Given the description of an element on the screen output the (x, y) to click on. 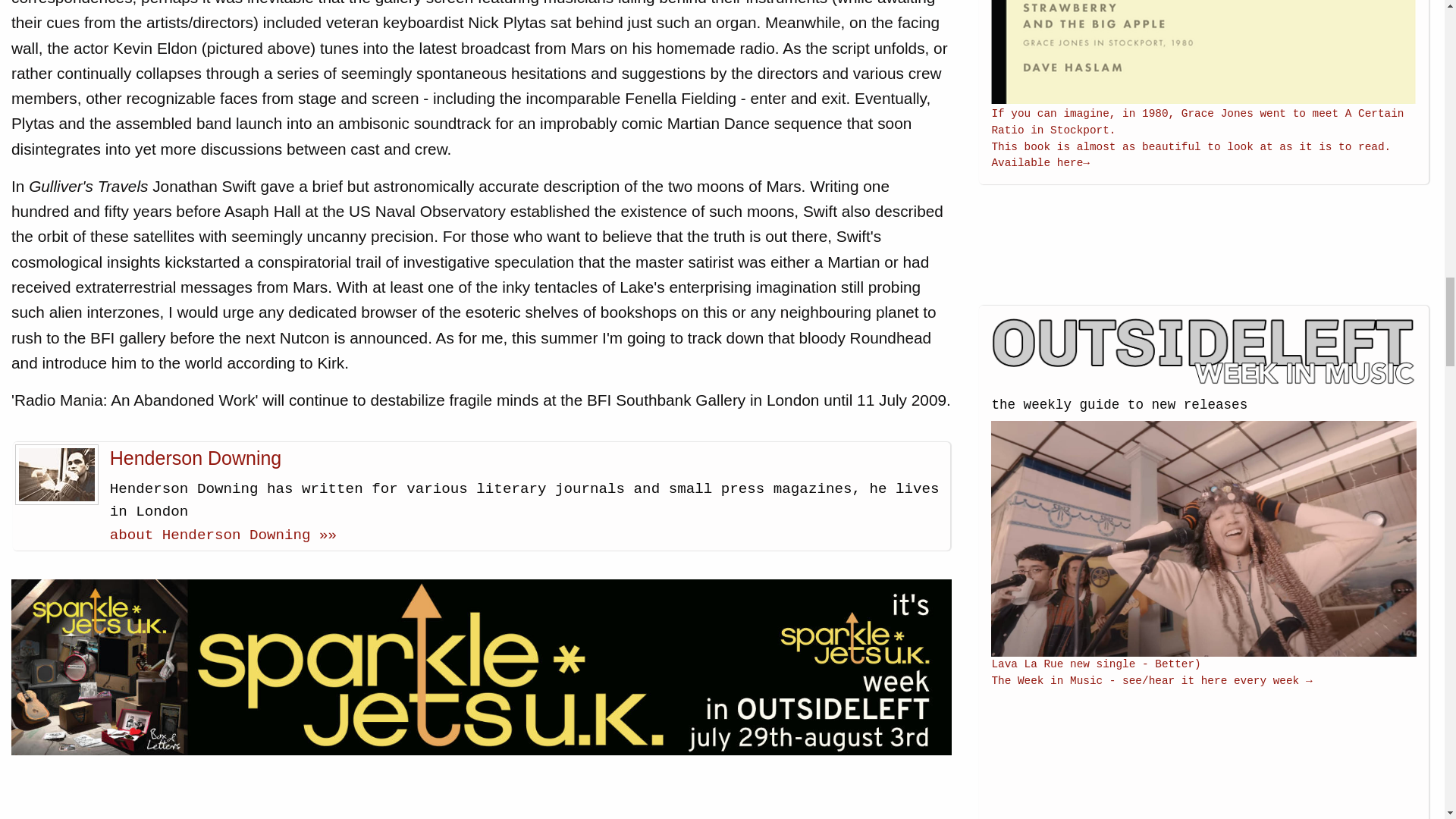
Henderson Downing (196, 457)
